Given the description of an element on the screen output the (x, y) to click on. 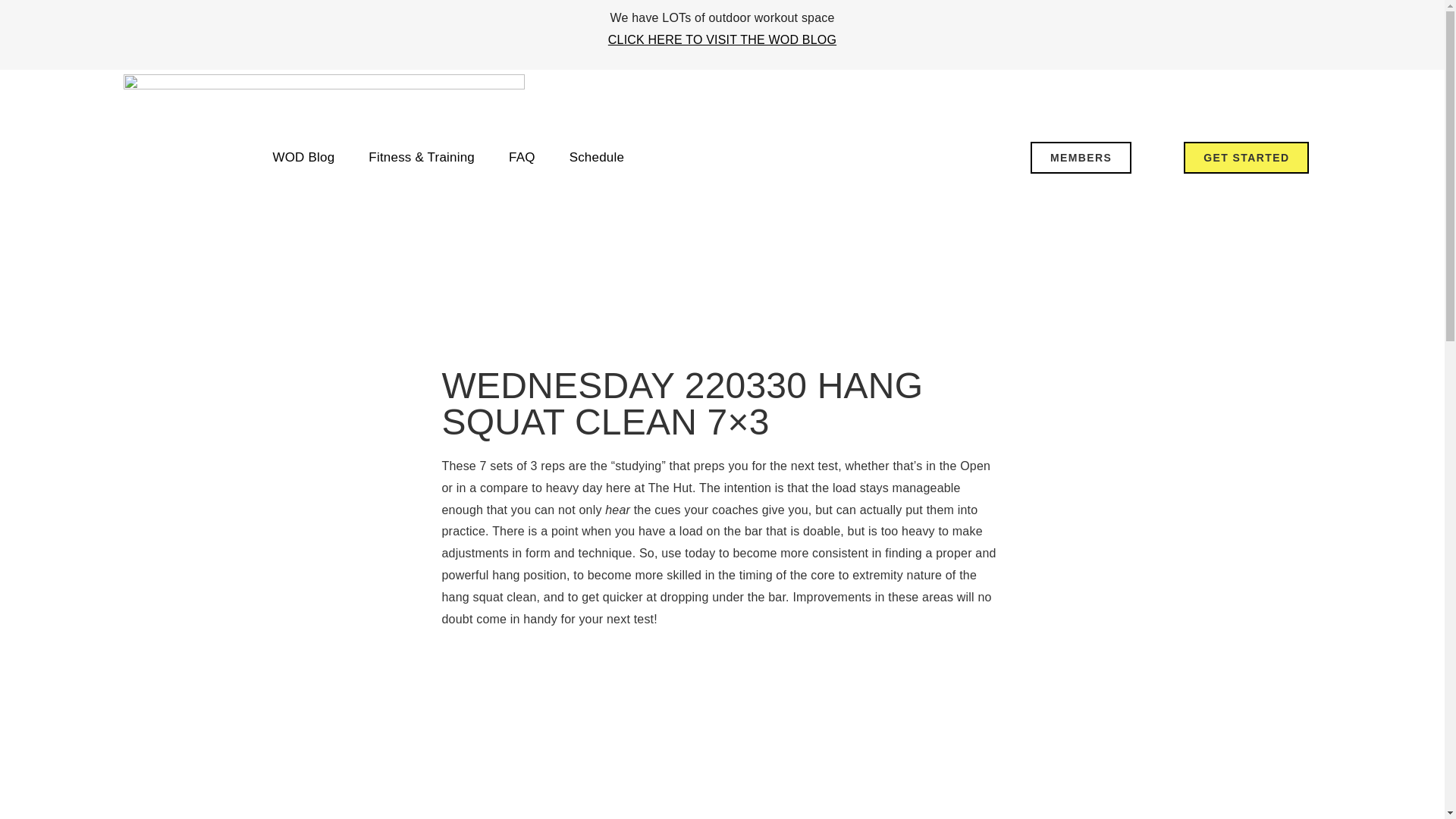
GET STARTED (1245, 157)
FAQ (521, 157)
MEMBERS (1080, 157)
CLICK HERE TO VISIT THE WOD BLOG (721, 39)
Schedule (597, 157)
WOD Blog (303, 157)
